Given the description of an element on the screen output the (x, y) to click on. 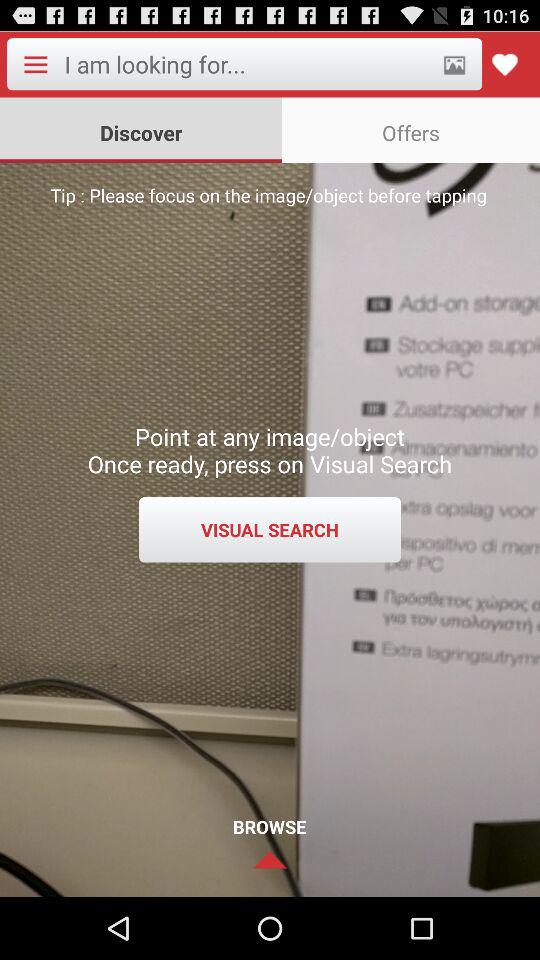
like (504, 64)
